Given the description of an element on the screen output the (x, y) to click on. 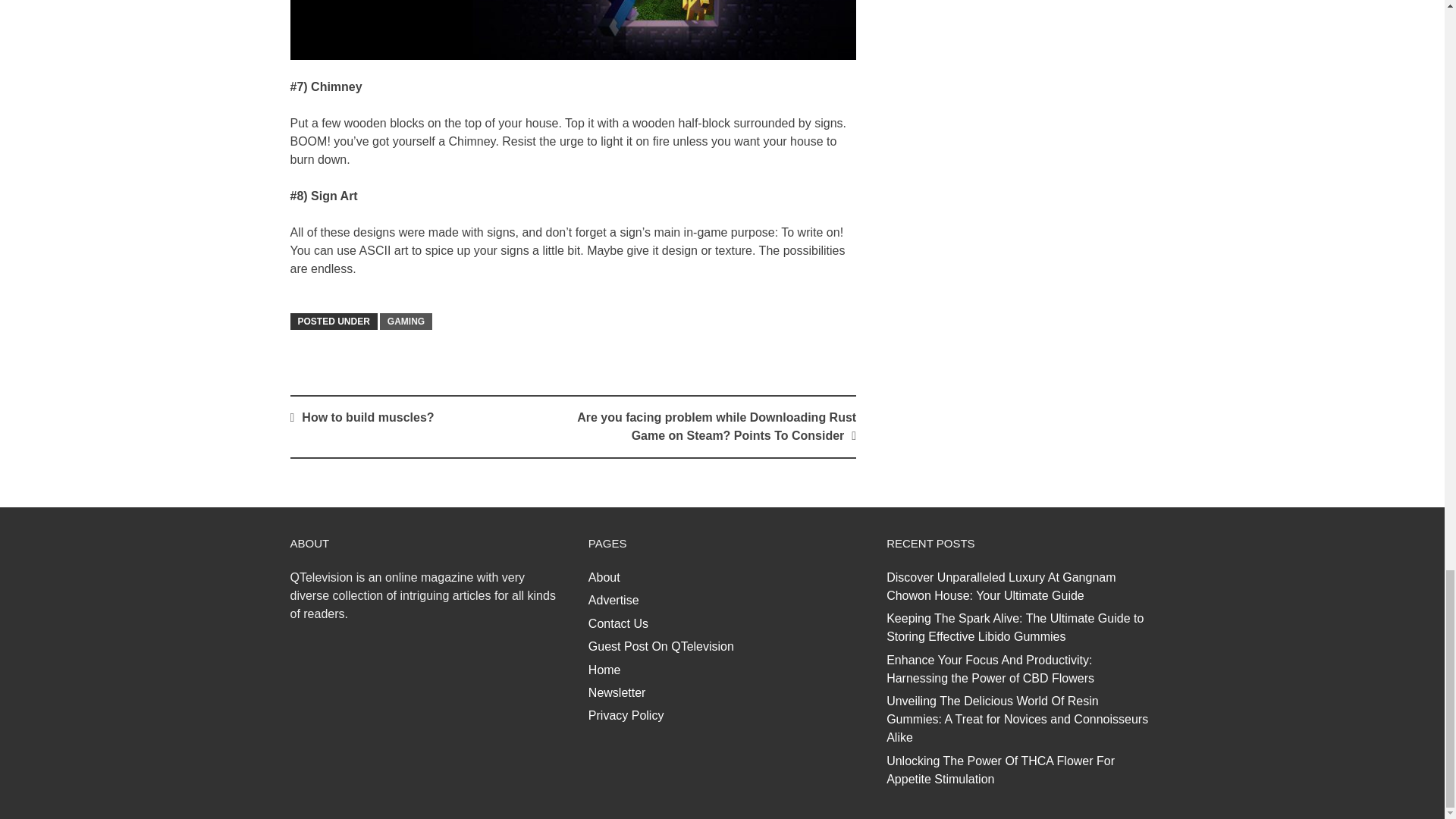
How to build muscles? (367, 417)
GAMING (406, 321)
